Given the description of an element on the screen output the (x, y) to click on. 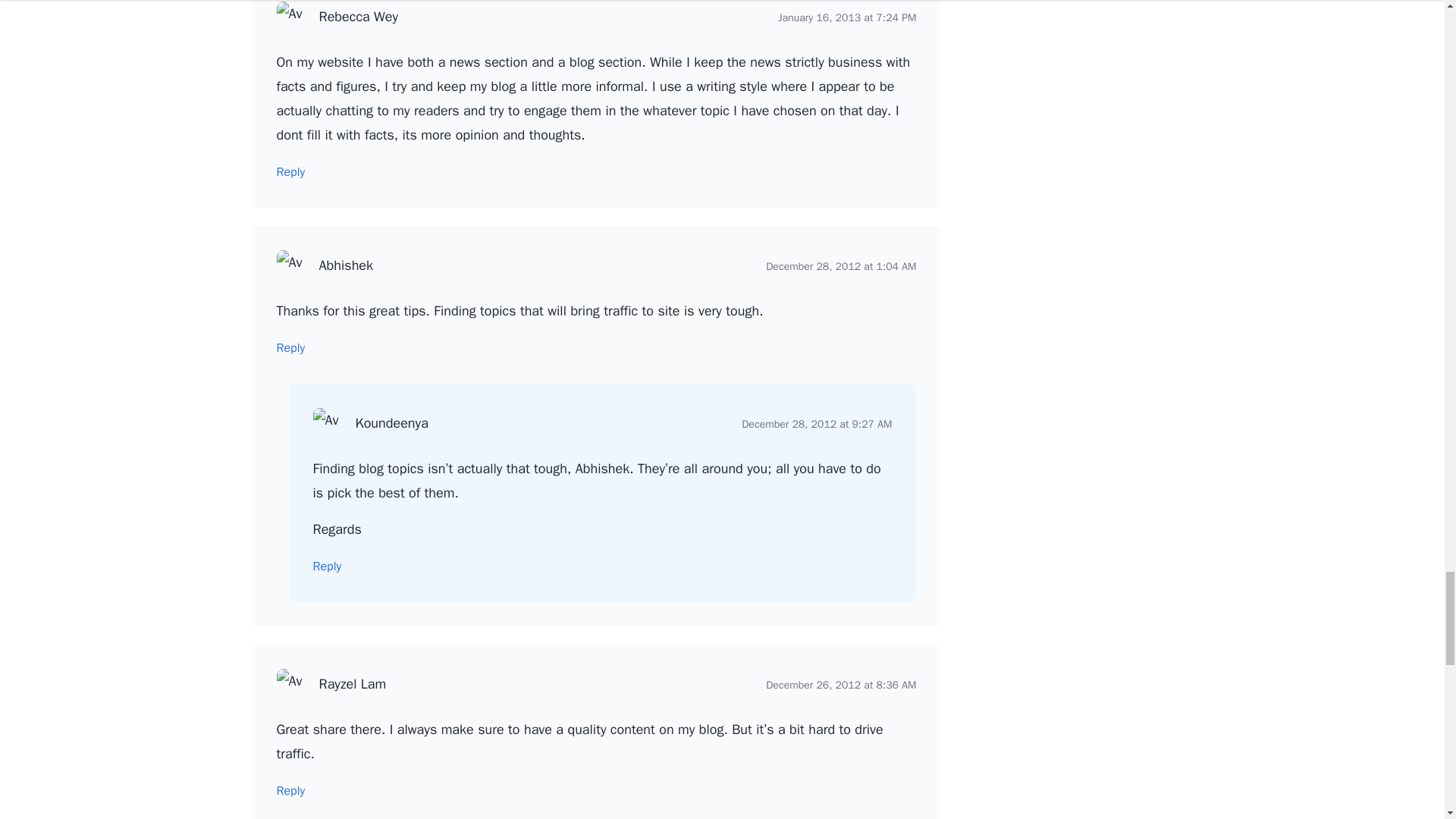
Gravatar for Koundeenya (327, 422)
Gravatar for Rebecca Wey (290, 16)
Gravatar for Rayzel Lam (290, 684)
Gravatar for Abhishek (290, 265)
